Given the description of an element on the screen output the (x, y) to click on. 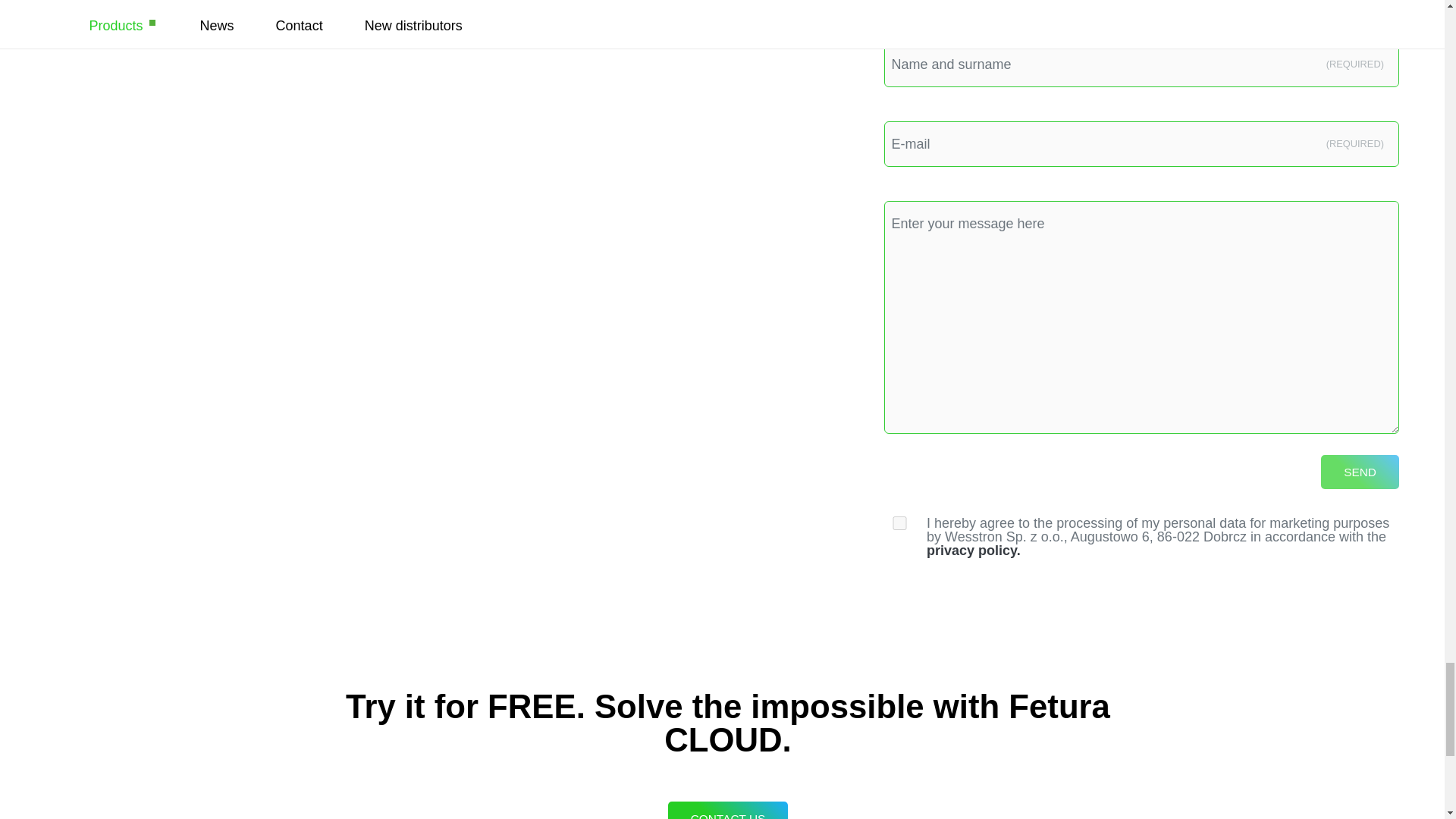
1 (899, 522)
